Given the description of an element on the screen output the (x, y) to click on. 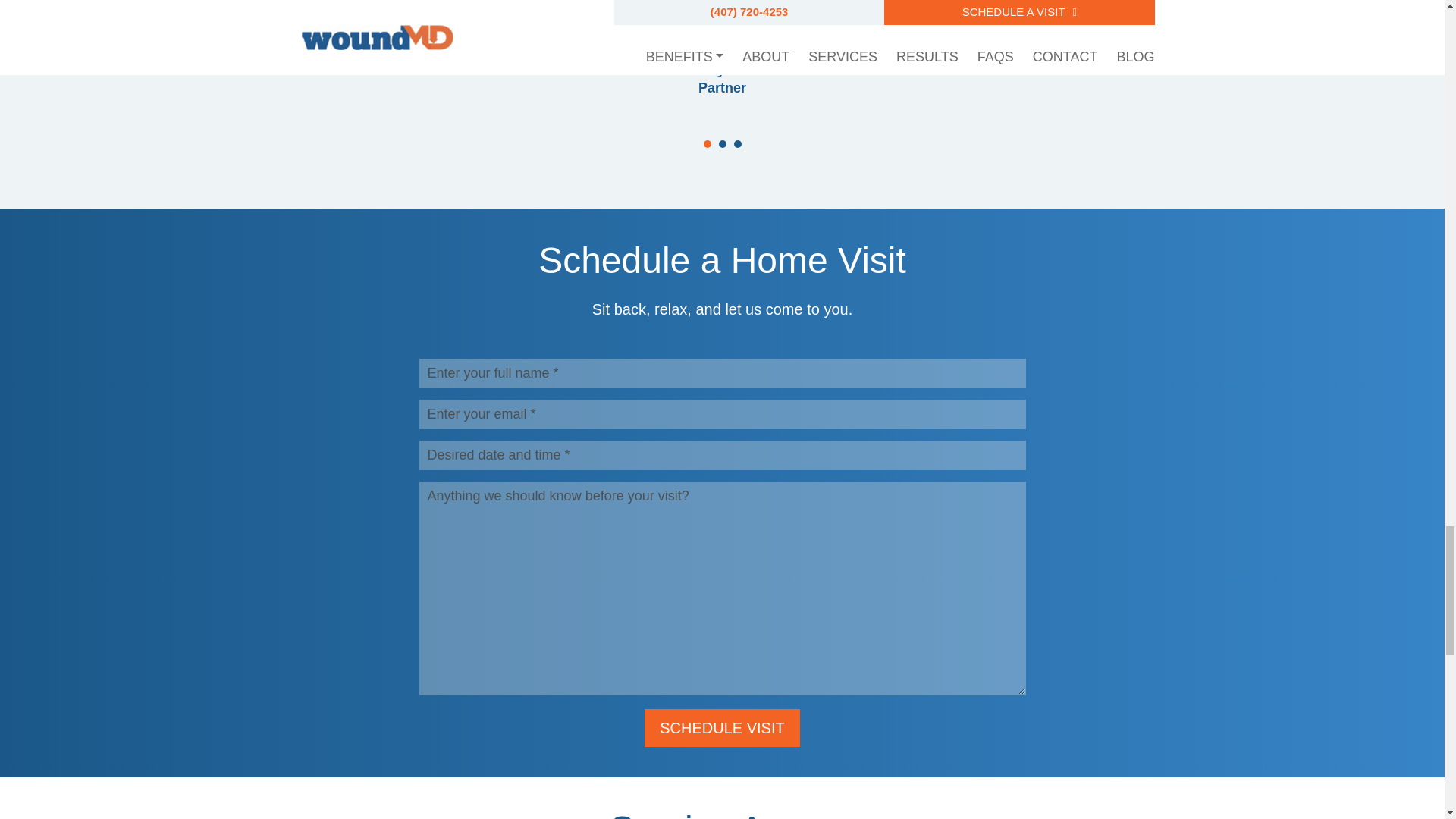
Schedule Visit (722, 727)
2 (722, 144)
1 (707, 144)
3 (737, 144)
